Given the description of an element on the screen output the (x, y) to click on. 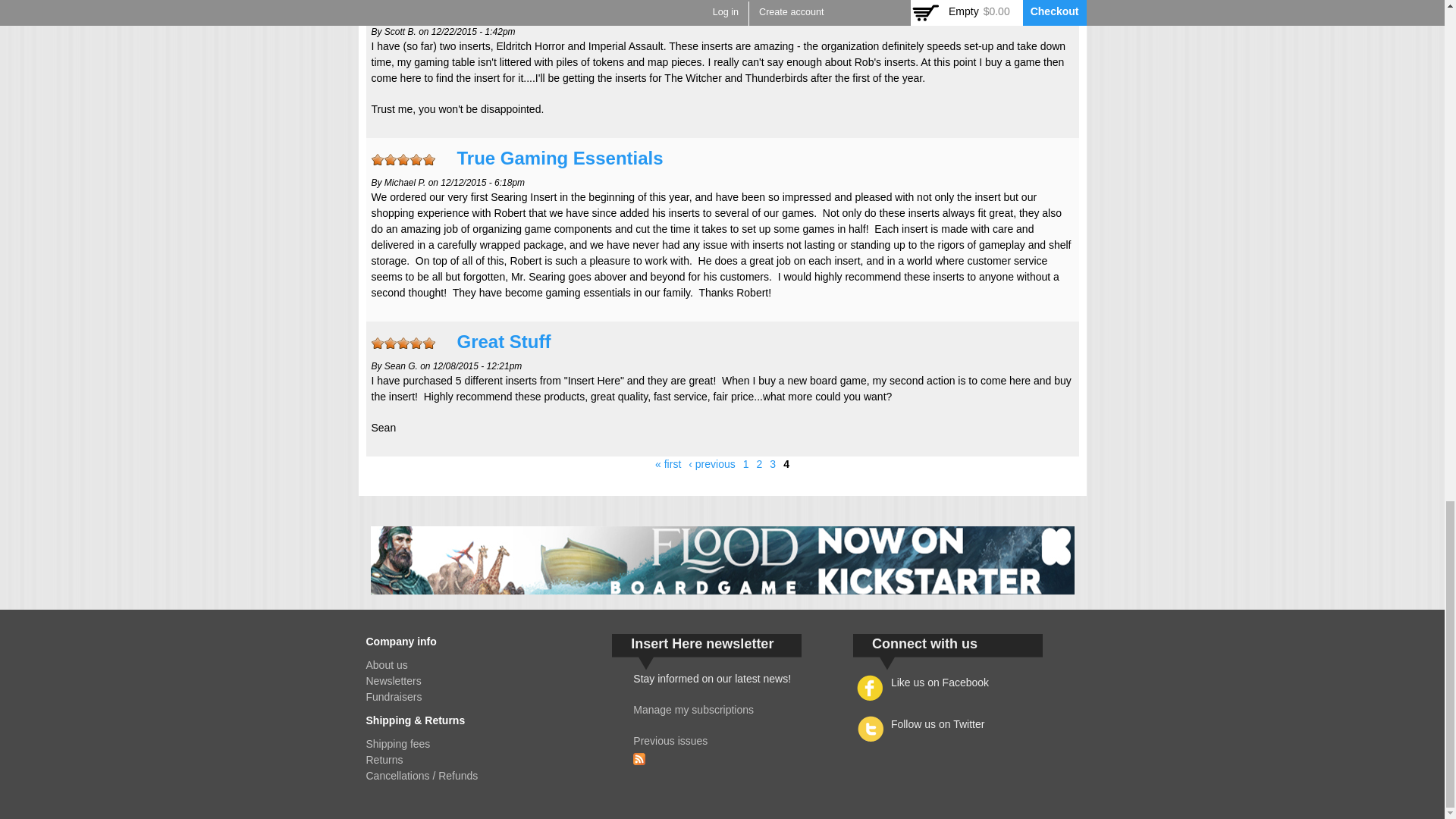
True Gaming Essentials (559, 158)
Definite game essentials - at least for me (632, 8)
Go to first page (668, 463)
Subscribe to Insert Here newsletter feed (639, 756)
Go to previous page (711, 463)
Great Stuff (503, 341)
